Given the description of an element on the screen output the (x, y) to click on. 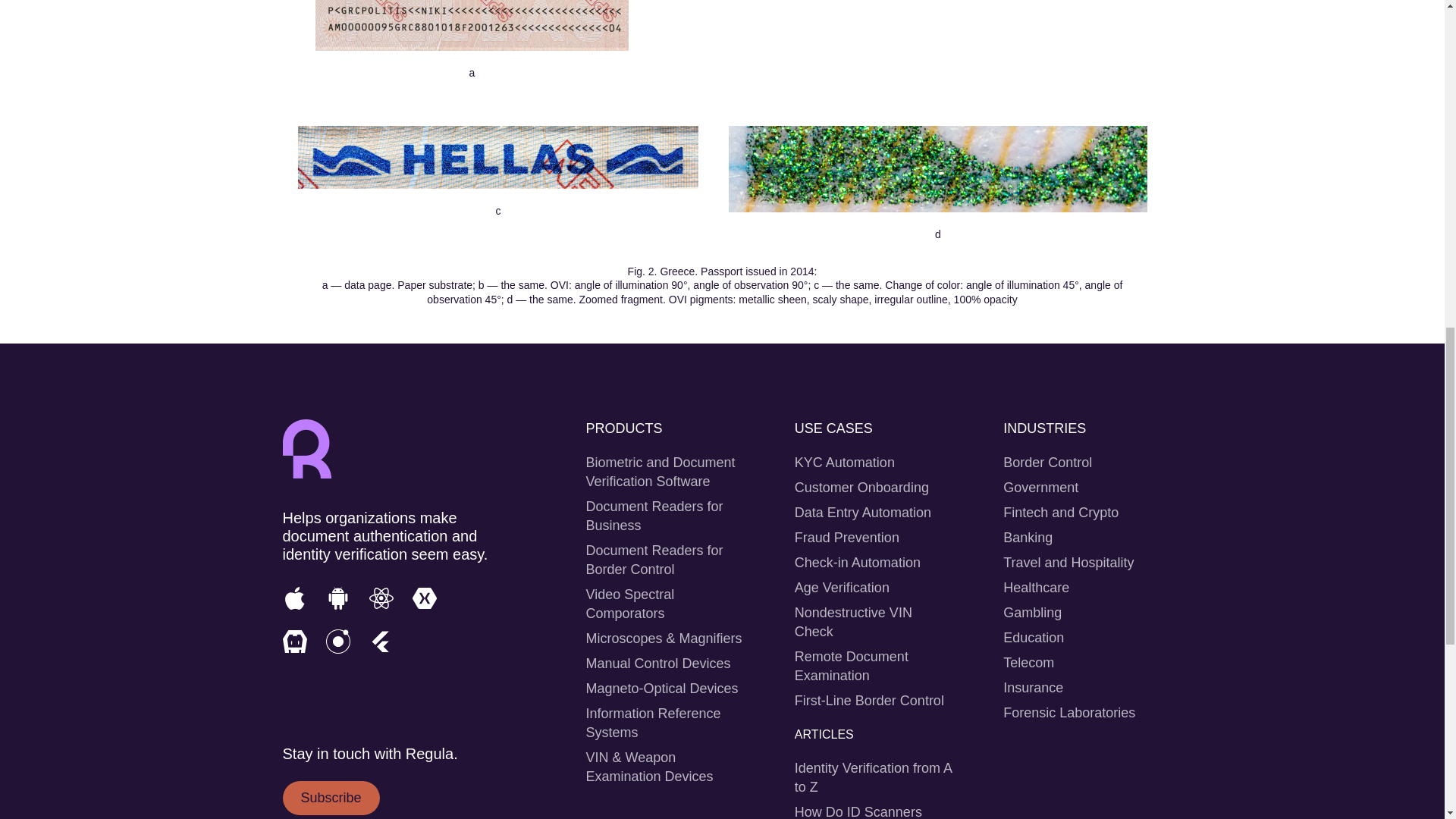
Document Readers for Border Control (653, 559)
Subscribe (330, 797)
Biometric and Document Verification Software (660, 471)
Document Readers for Business (653, 515)
